Given the description of an element on the screen output the (x, y) to click on. 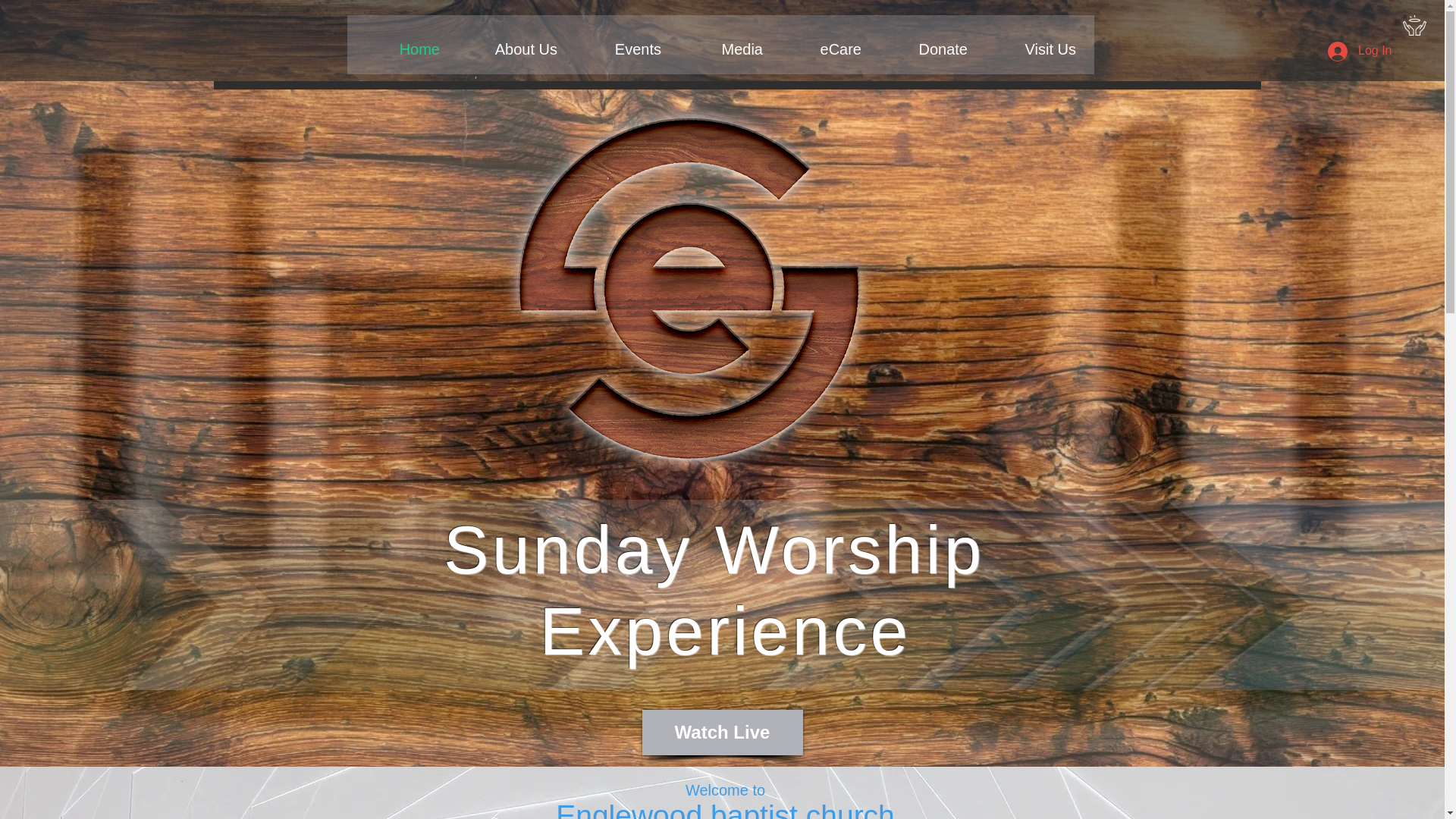
Watch Live (722, 732)
Media (723, 49)
Donate (925, 49)
Log In (1359, 50)
About Us (510, 49)
eCare (823, 49)
Home (401, 49)
Visit Us (1032, 49)
Events (620, 49)
